Given the description of an element on the screen output the (x, y) to click on. 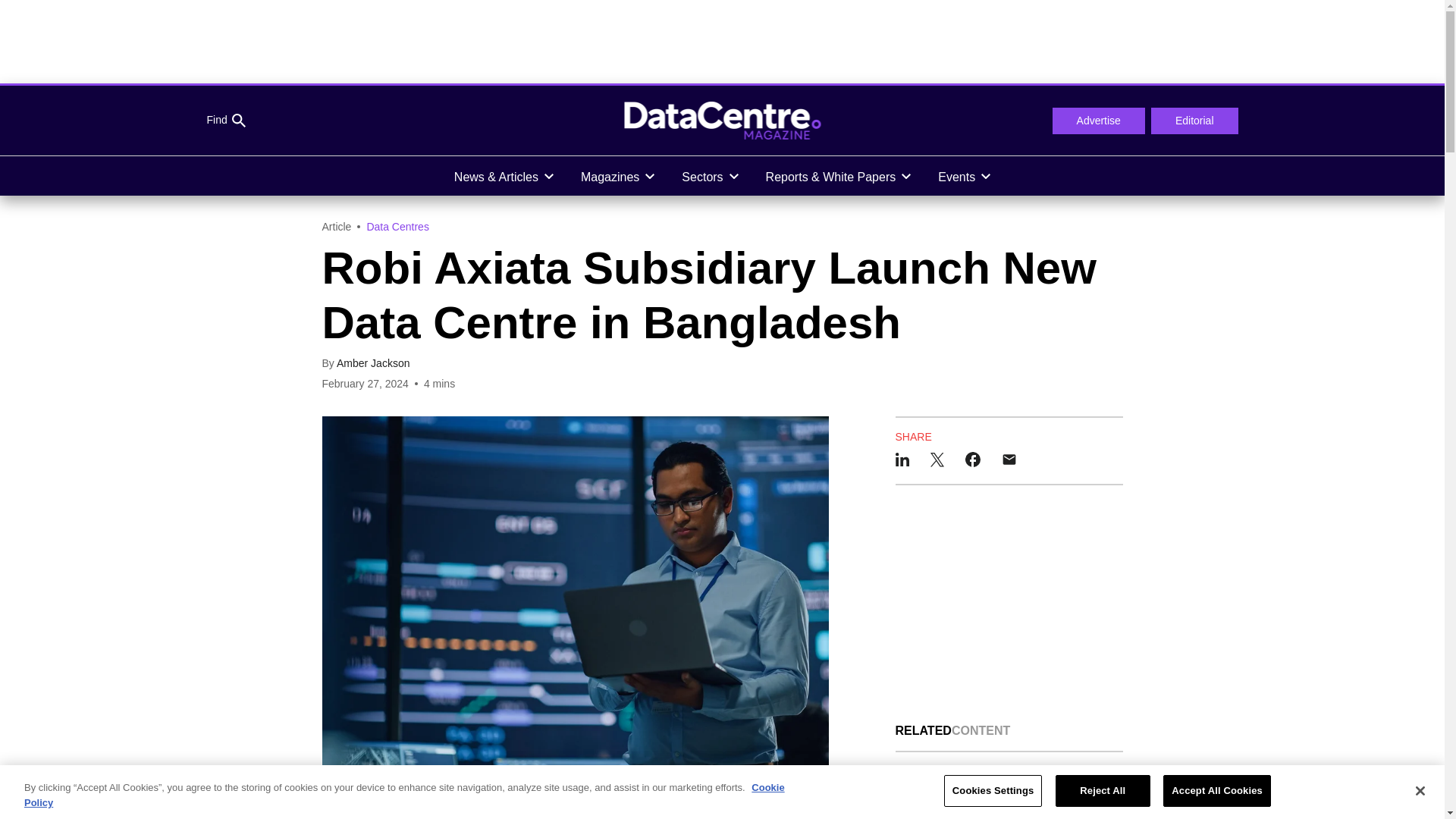
Advertise (1098, 121)
3rd party ad content (1008, 604)
Events (964, 175)
Editorial (1195, 121)
Sectors (709, 175)
Magazines (617, 175)
Find (225, 120)
3rd party ad content (721, 41)
